Given the description of an element on the screen output the (x, y) to click on. 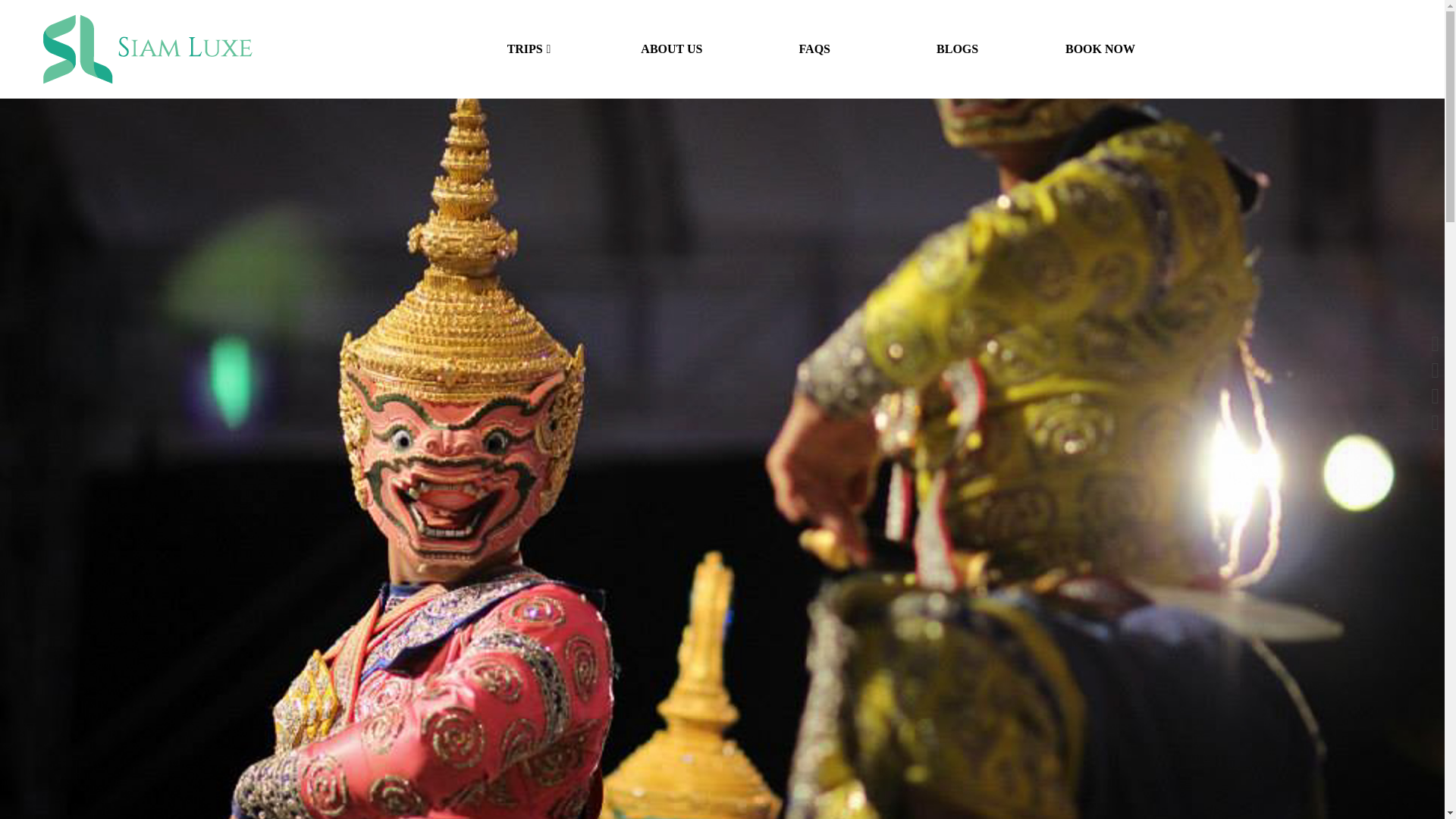
TRIPS (528, 49)
ABOUT US (670, 49)
BOOK NOW (1100, 49)
BLOGS (956, 49)
FAQS (813, 49)
